Given the description of an element on the screen output the (x, y) to click on. 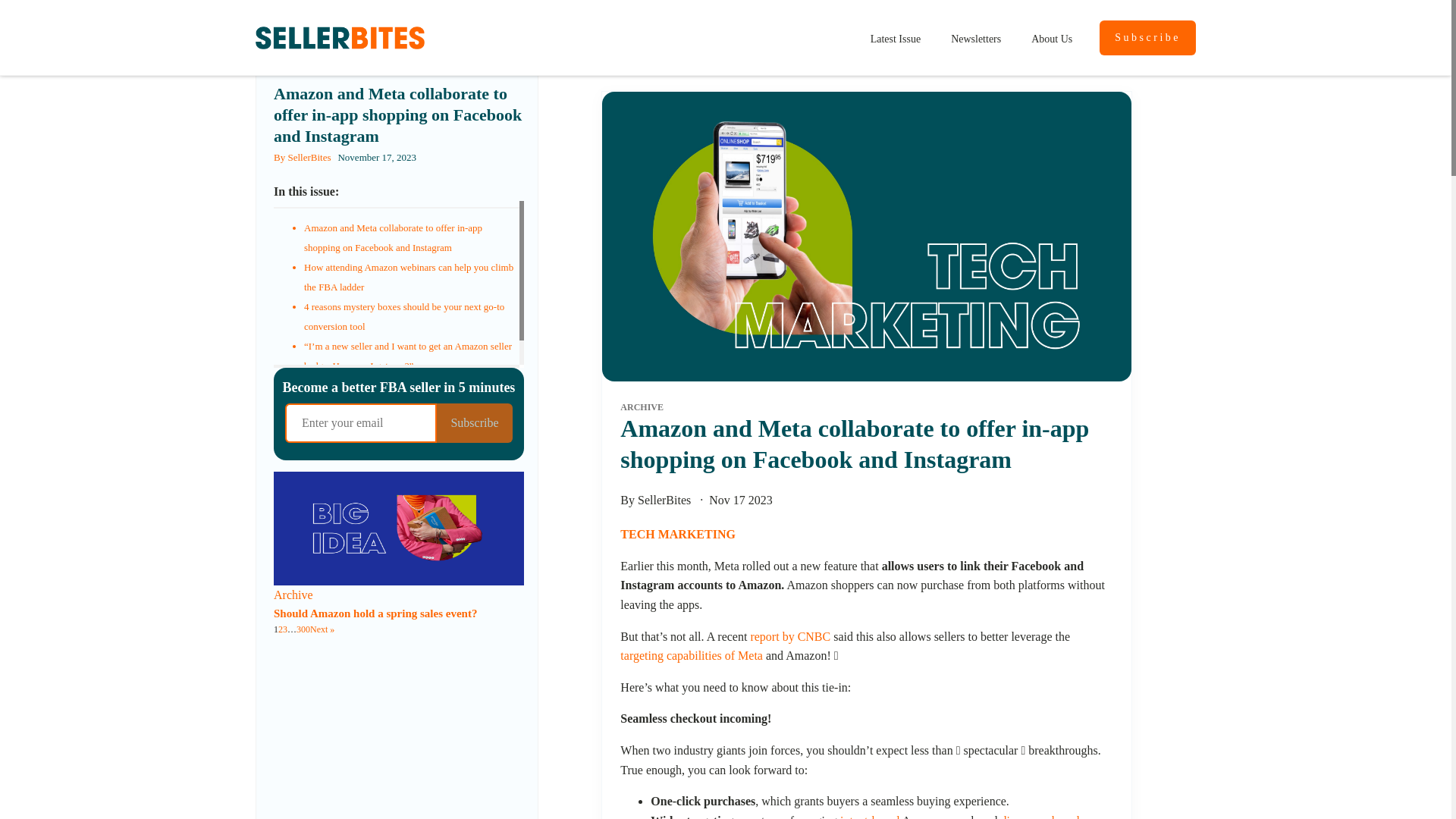
report by CNBC (789, 635)
targeting capabilities of Meta (691, 655)
Archive (293, 594)
Opens in a new window (691, 655)
intent-based (869, 816)
Newsletters (976, 37)
About Us (1051, 37)
300 (303, 629)
Should Amazon hold a spring sales event? (375, 613)
Latest Issue (896, 37)
discovery-based (1040, 816)
Opens in a new window (1040, 816)
